Given the description of an element on the screen output the (x, y) to click on. 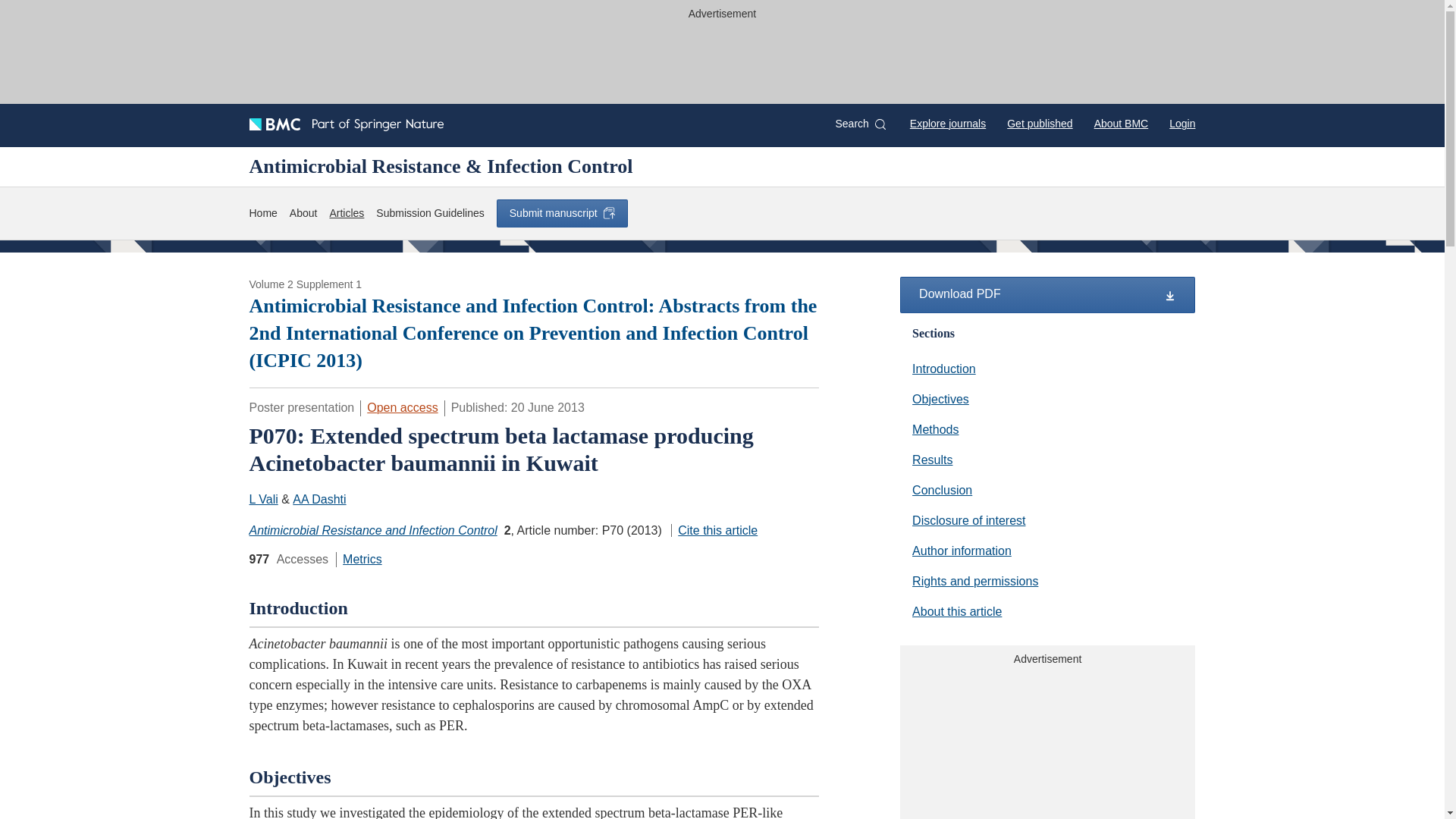
Home (262, 212)
Antimicrobial Resistance and Infection Control (372, 530)
Login (1182, 123)
Cite this article (714, 530)
Explore journals (947, 123)
About BMC (1121, 123)
Get published (1039, 123)
About (303, 212)
Open access (402, 407)
Submission Guidelines (429, 212)
Submit manuscript (561, 212)
L Vali (263, 499)
AA Dashti (319, 499)
Metrics (361, 558)
